Given the description of an element on the screen output the (x, y) to click on. 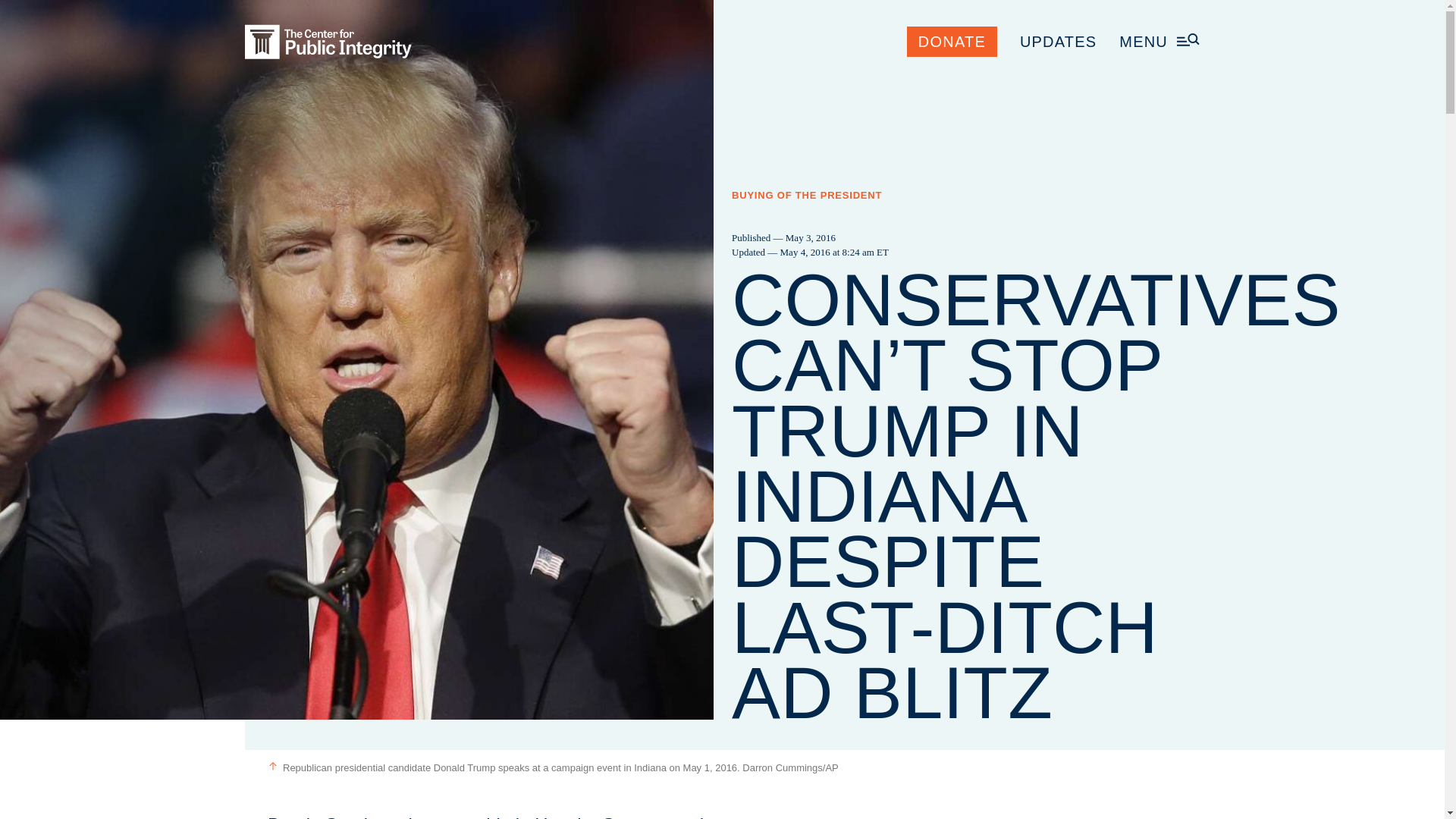
BUYING OF THE PRESIDENT (807, 195)
MENU (1159, 41)
UPDATES (1058, 41)
DONATE (952, 41)
